Given the description of an element on the screen output the (x, y) to click on. 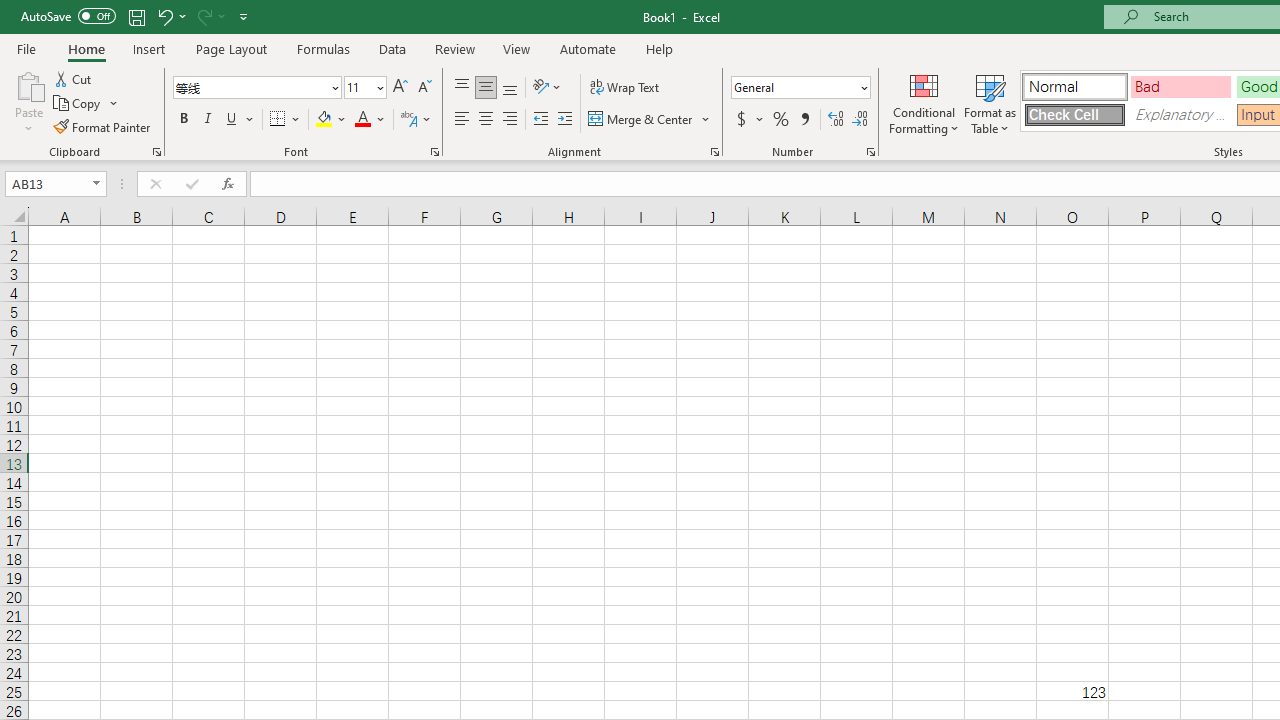
Borders (285, 119)
Align Right (509, 119)
Bottom Border (278, 119)
Format as Table (990, 102)
Decrease Indent (540, 119)
Font Color RGB(255, 0, 0) (362, 119)
Format Cell Font (434, 151)
Align Left (461, 119)
Font (256, 87)
Office Clipboard... (156, 151)
Accounting Number Format (741, 119)
Format Cell Number (870, 151)
Font Color (370, 119)
Explanatory Text (1180, 114)
